Given the description of an element on the screen output the (x, y) to click on. 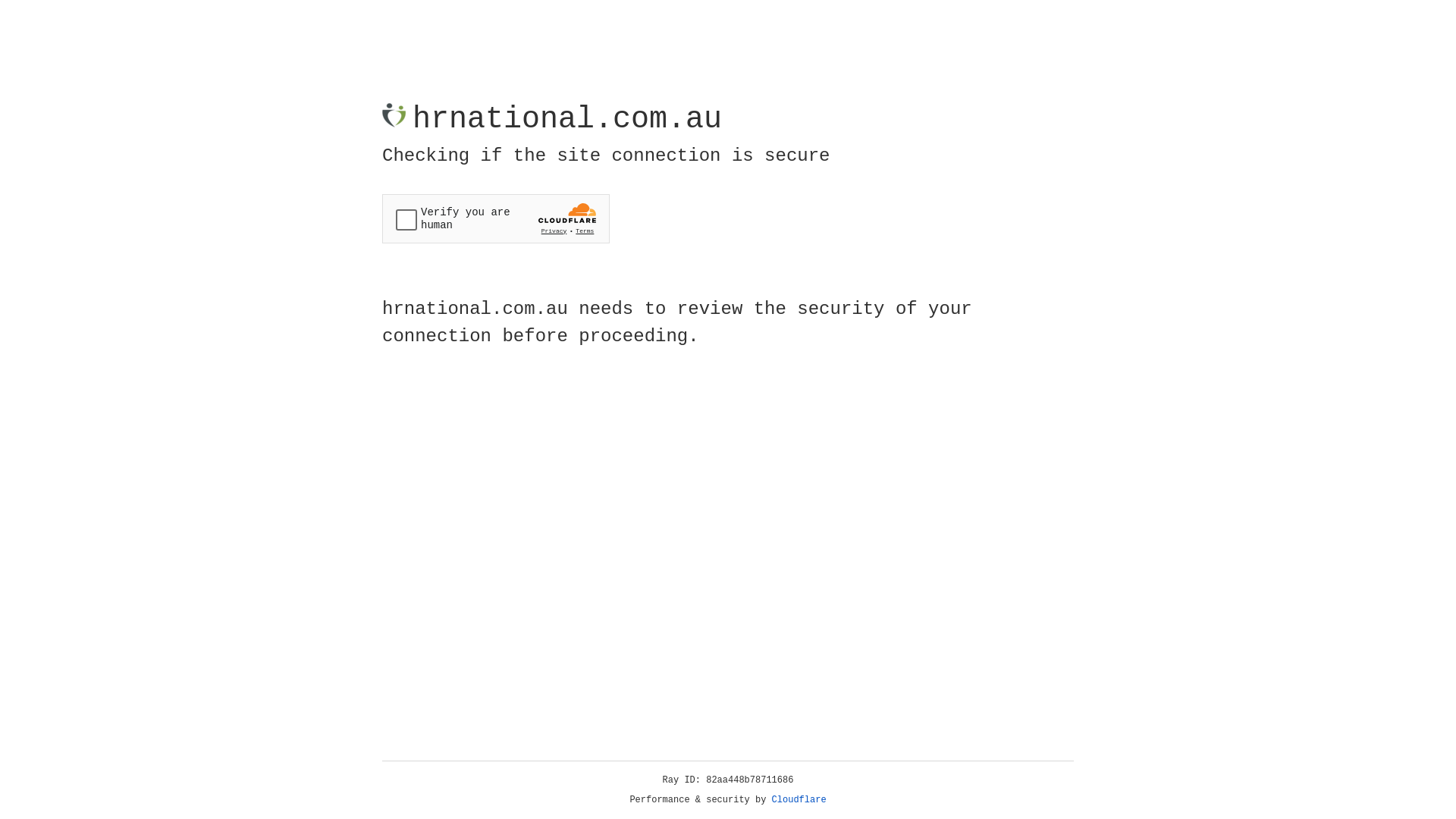
Cloudflare Element type: text (798, 799)
Widget containing a Cloudflare security challenge Element type: hover (495, 218)
